Given the description of an element on the screen output the (x, y) to click on. 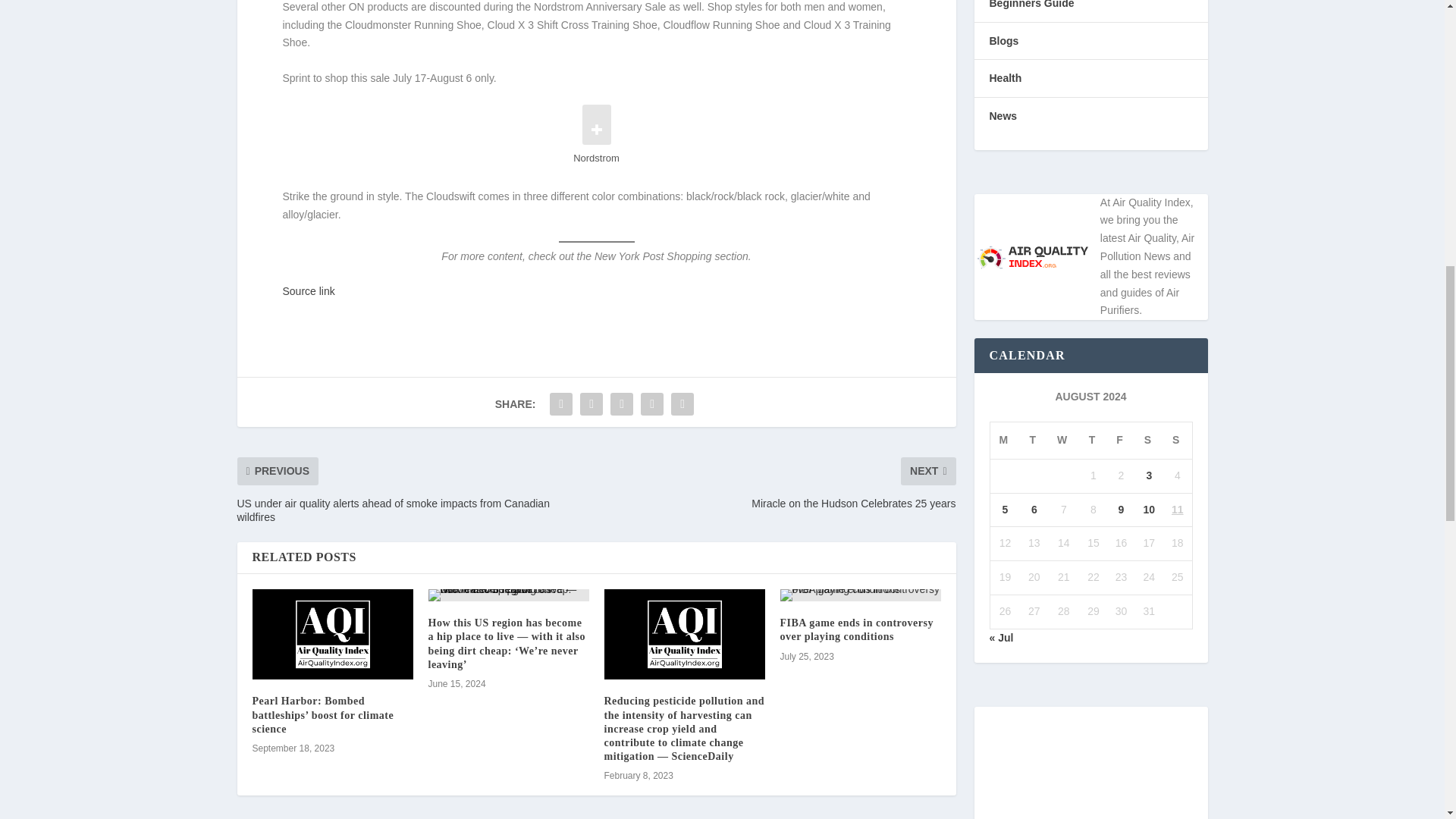
Source link (308, 291)
FIBA game ends in controversy over playing conditions (855, 629)
FIBA game ends in controversy over playing conditions (859, 594)
